Given the description of an element on the screen output the (x, y) to click on. 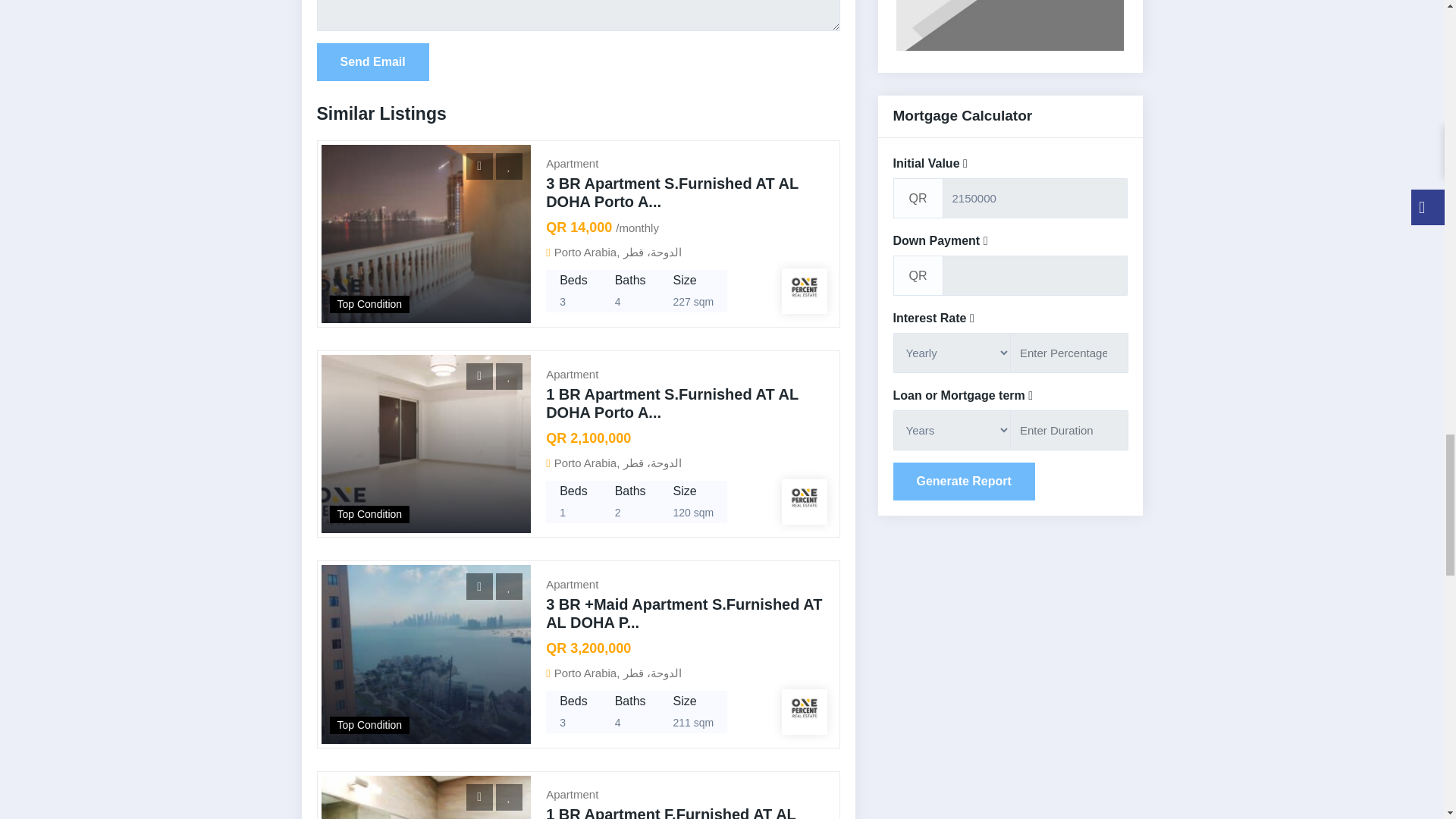
2150000 (1034, 198)
